Given the description of an element on the screen output the (x, y) to click on. 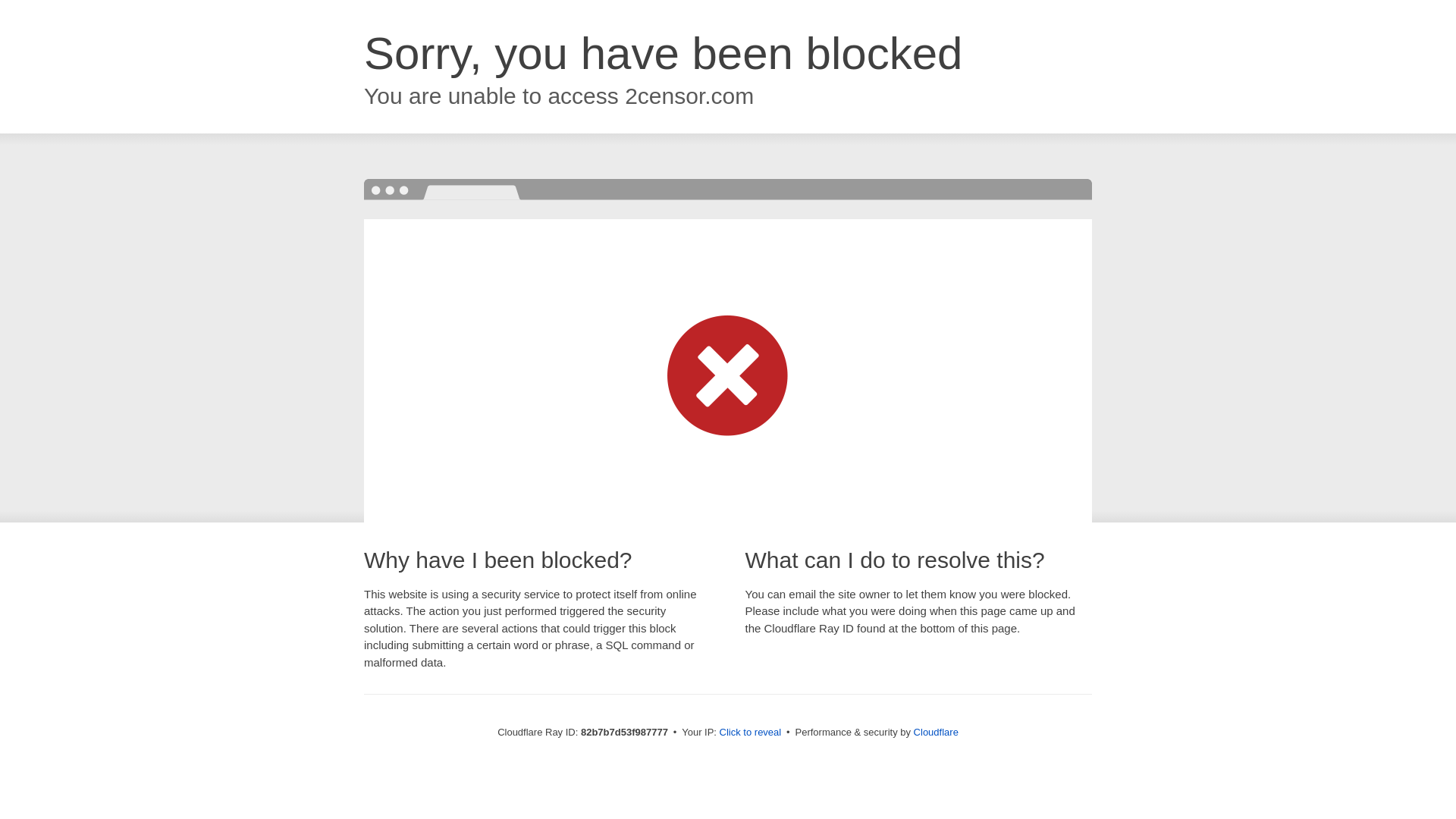
Click to reveal Element type: text (750, 732)
Cloudflare Element type: text (935, 731)
